Given the description of an element on the screen output the (x, y) to click on. 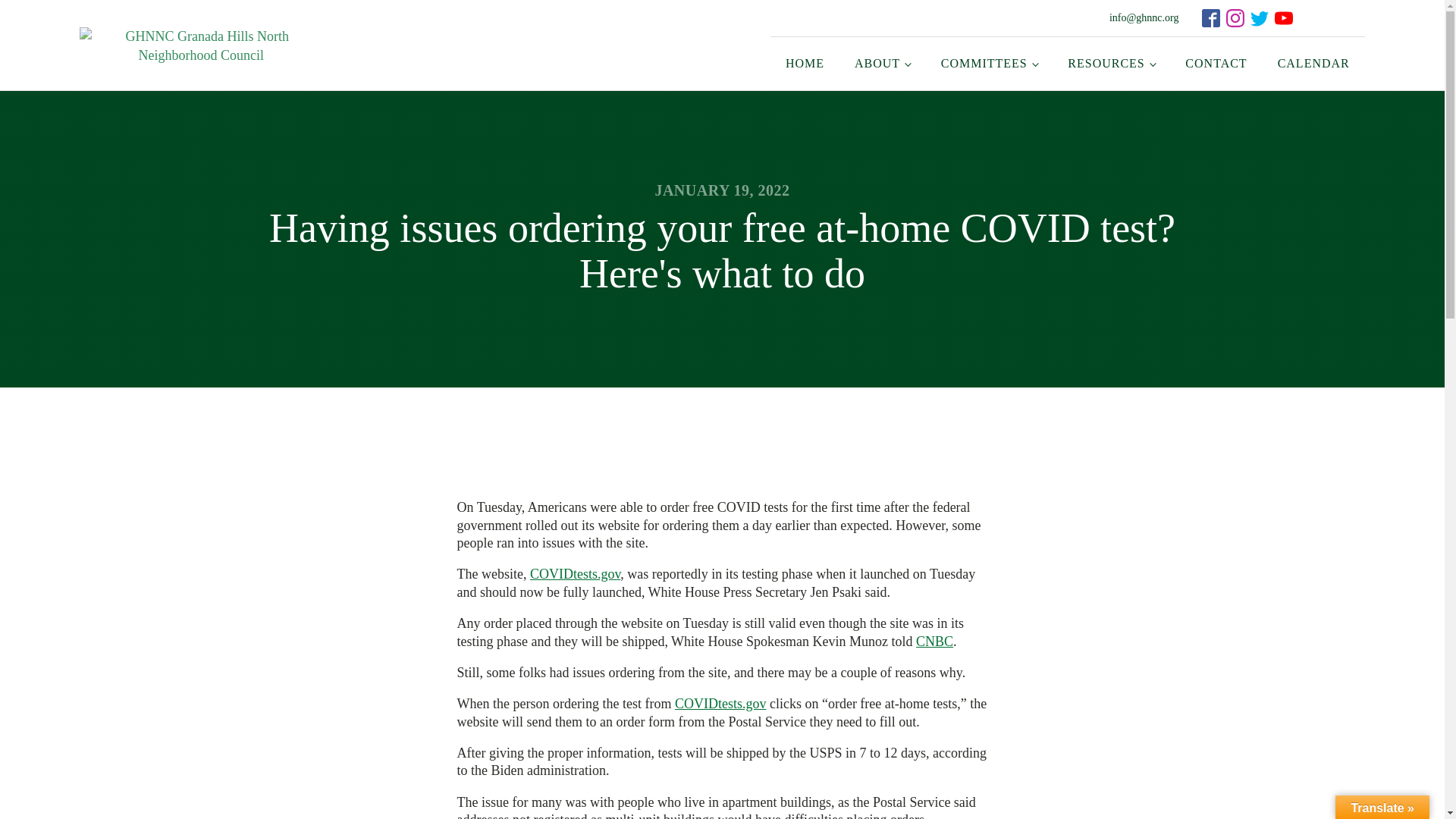
HOME (805, 63)
ABOUT (883, 63)
COMMITTEES (989, 63)
CONTACT (1216, 63)
CALENDAR (1313, 63)
RESOURCES (1111, 63)
